Given the description of an element on the screen output the (x, y) to click on. 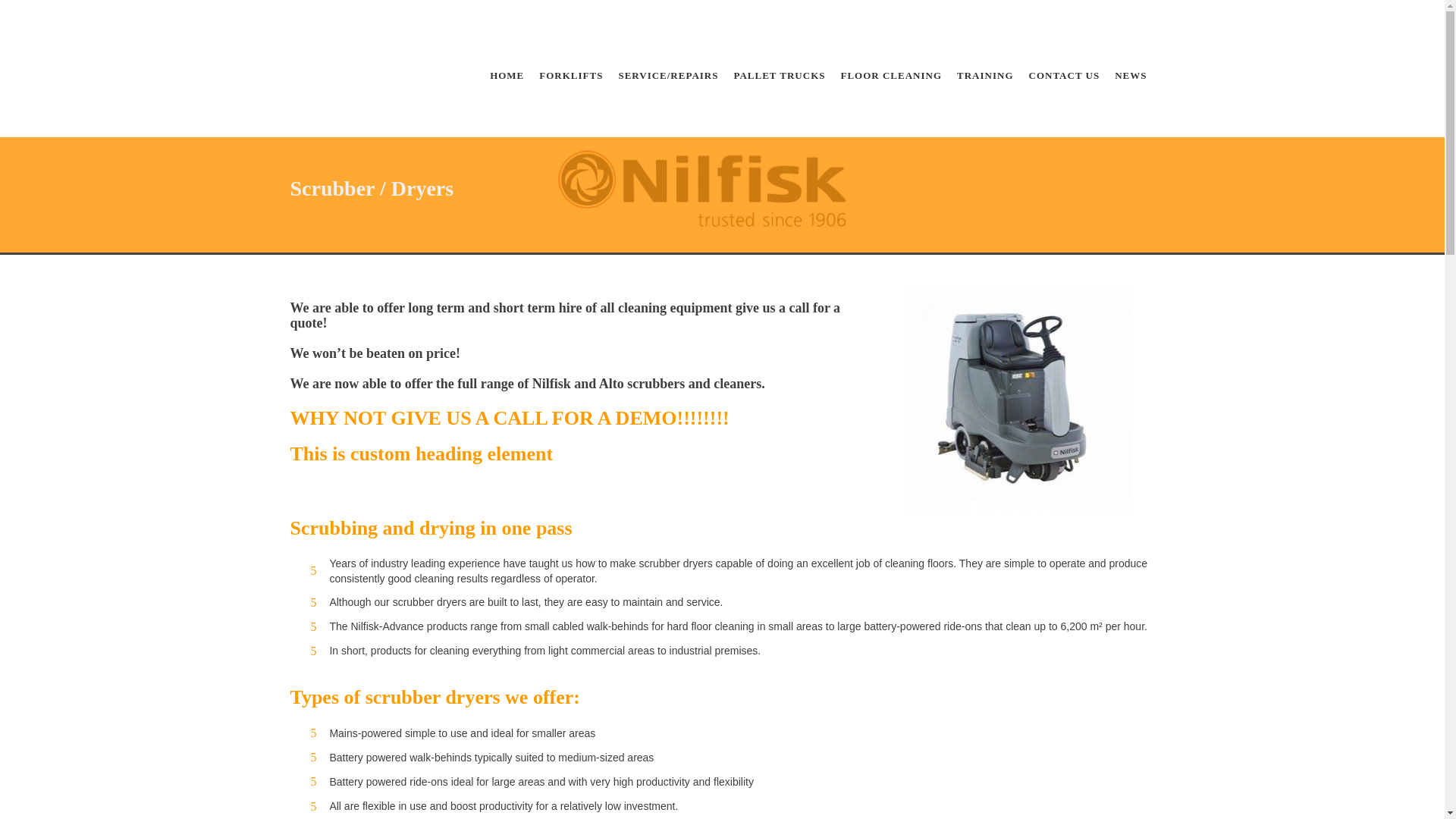
FORKLIFTS (570, 75)
HOME (506, 75)
PALLET TRUCKS (778, 75)
TRAINING (984, 75)
FLOOR CLEANING (890, 75)
contact (1065, 75)
